Given the description of an element on the screen output the (x, y) to click on. 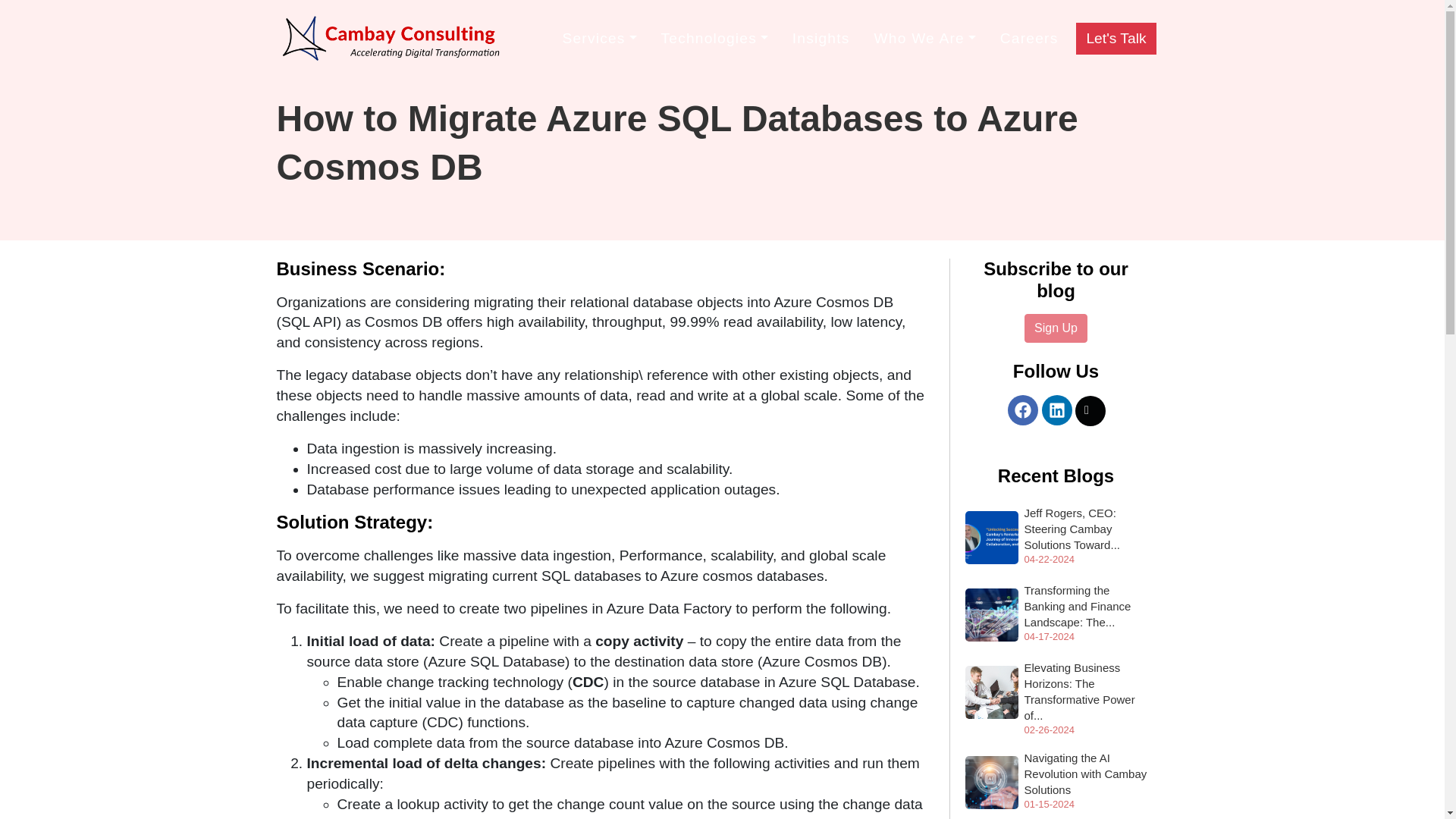
Technologies (714, 38)
Insights (821, 38)
Let's Talk (1115, 38)
Services (599, 38)
Careers (1029, 38)
Who We Are (924, 38)
Cambay Consulting - Accelerating Digital Transformation (390, 38)
Insights (821, 38)
Careers (1029, 38)
